Given the description of an element on the screen output the (x, y) to click on. 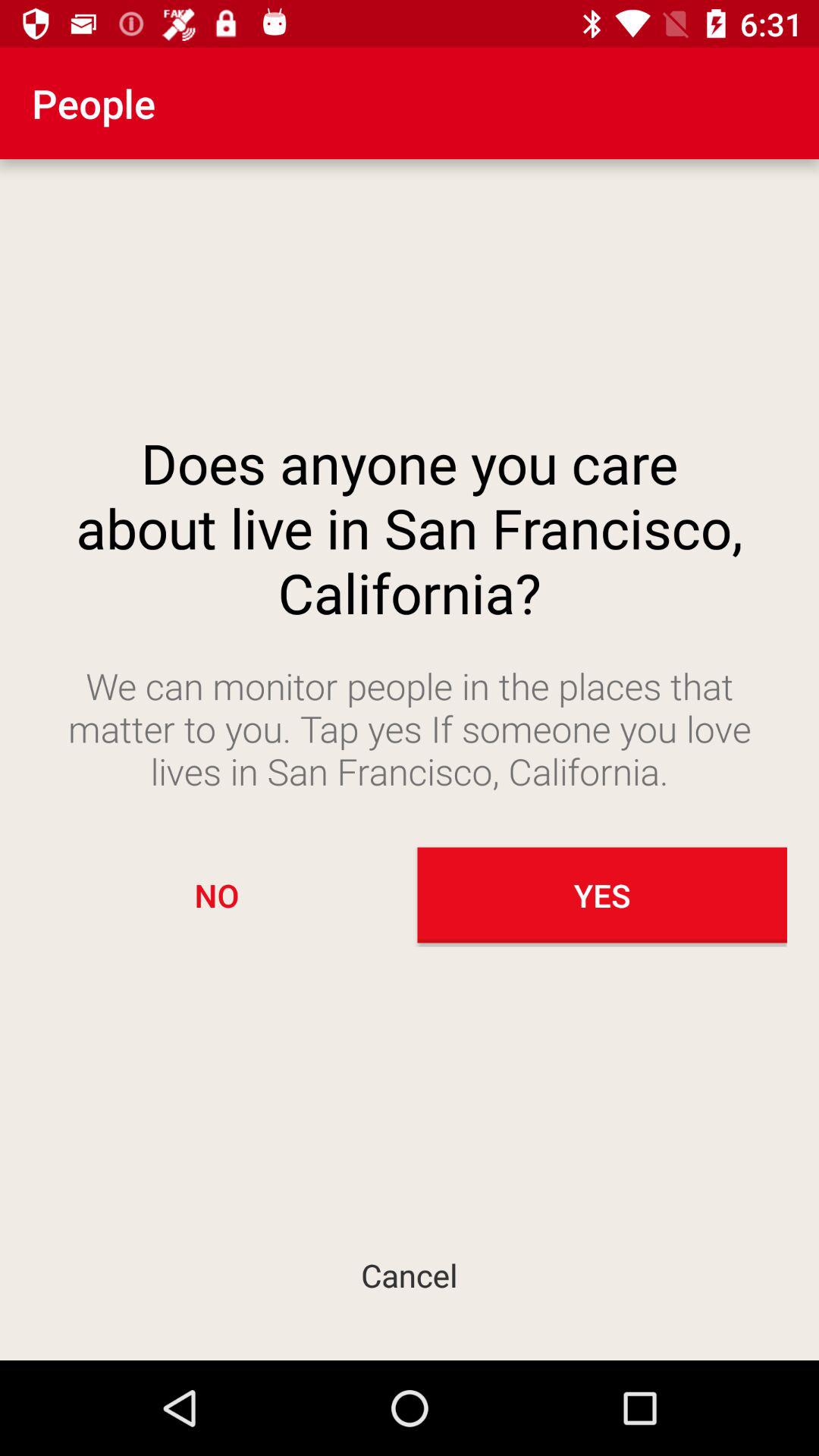
flip to no (216, 894)
